Given the description of an element on the screen output the (x, y) to click on. 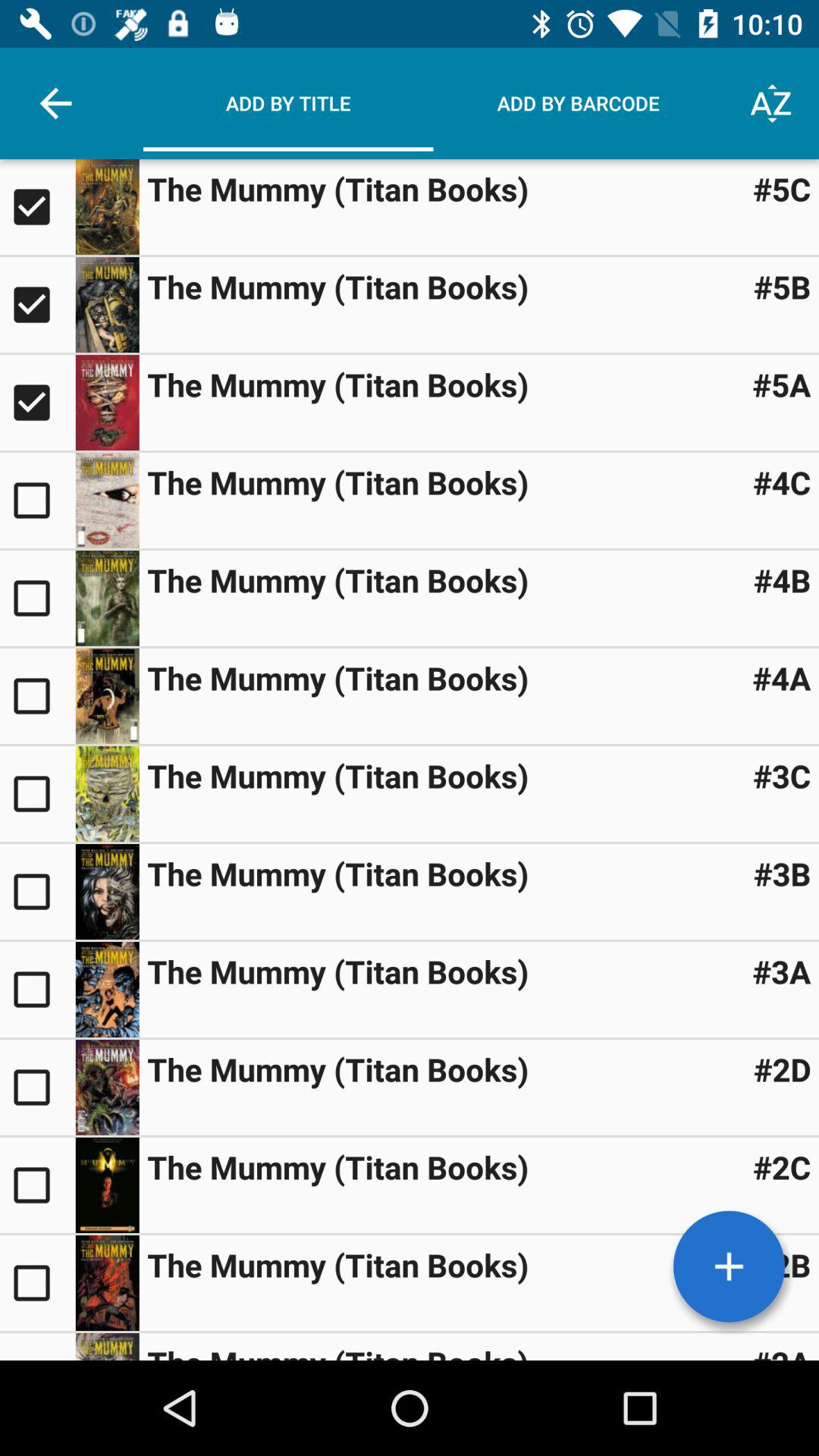
choose item to the right of the the mummy titan item (782, 481)
